Given the description of an element on the screen output the (x, y) to click on. 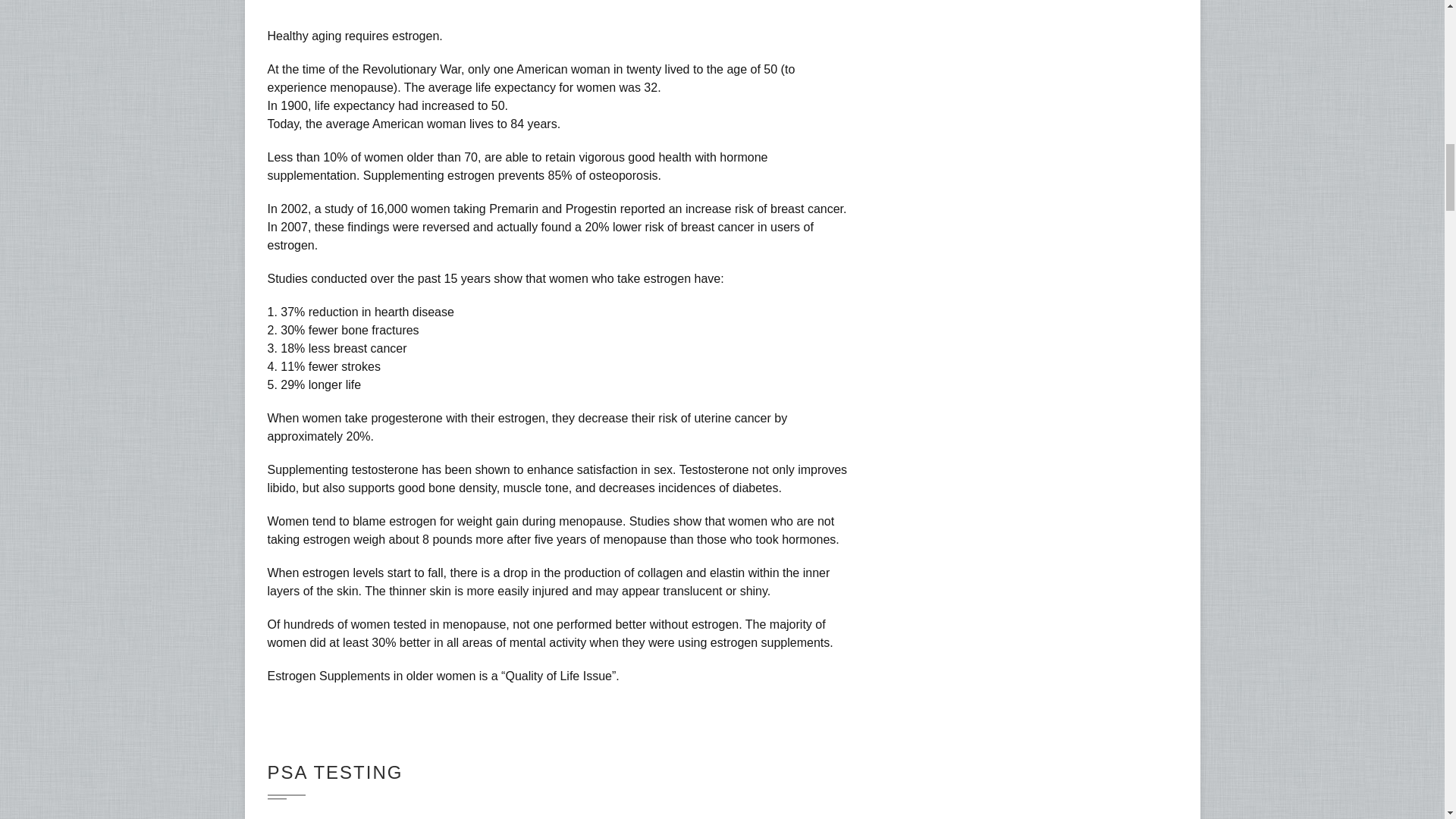
PSA TESTING (334, 772)
